Given the description of an element on the screen output the (x, y) to click on. 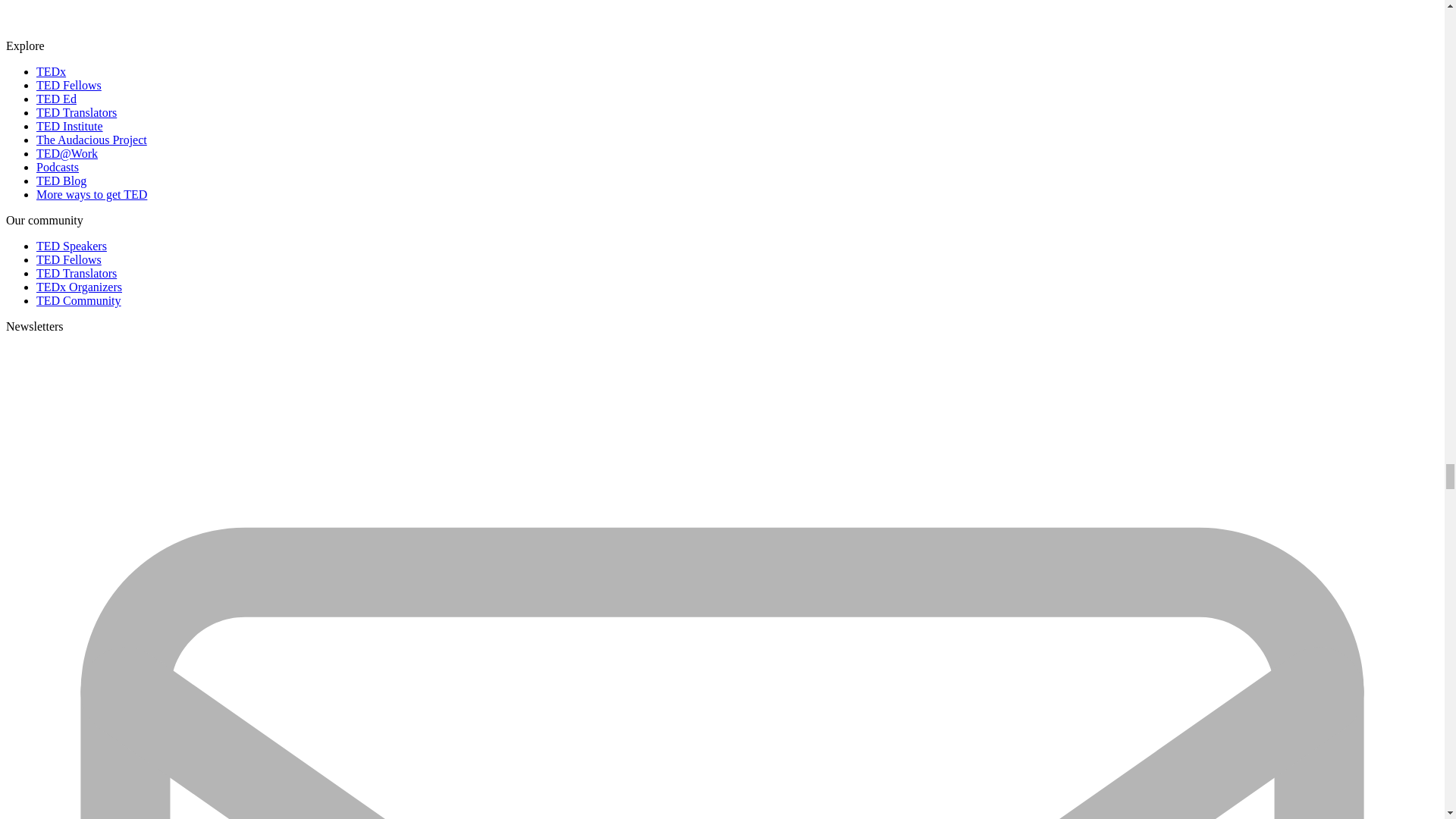
TED Institute (69, 125)
TED Translators (76, 112)
TEDx (50, 71)
TED Fellows (68, 84)
The Audacious Project (91, 139)
TED Ed (56, 98)
